Given the description of an element on the screen output the (x, y) to click on. 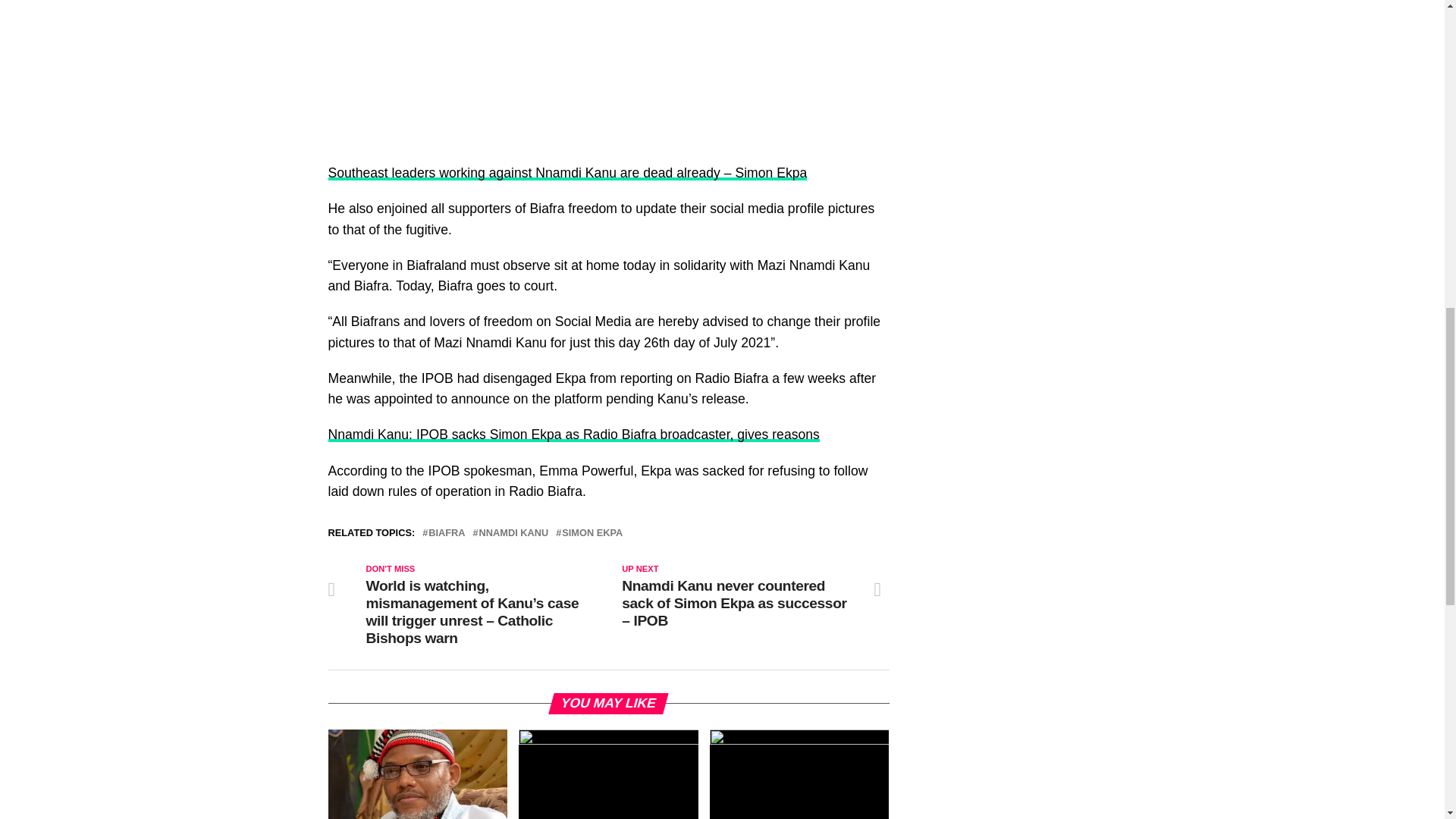
SIMON EKPA (592, 533)
BIAFRA (446, 533)
NNAMDI KANU (513, 533)
